Given the description of an element on the screen output the (x, y) to click on. 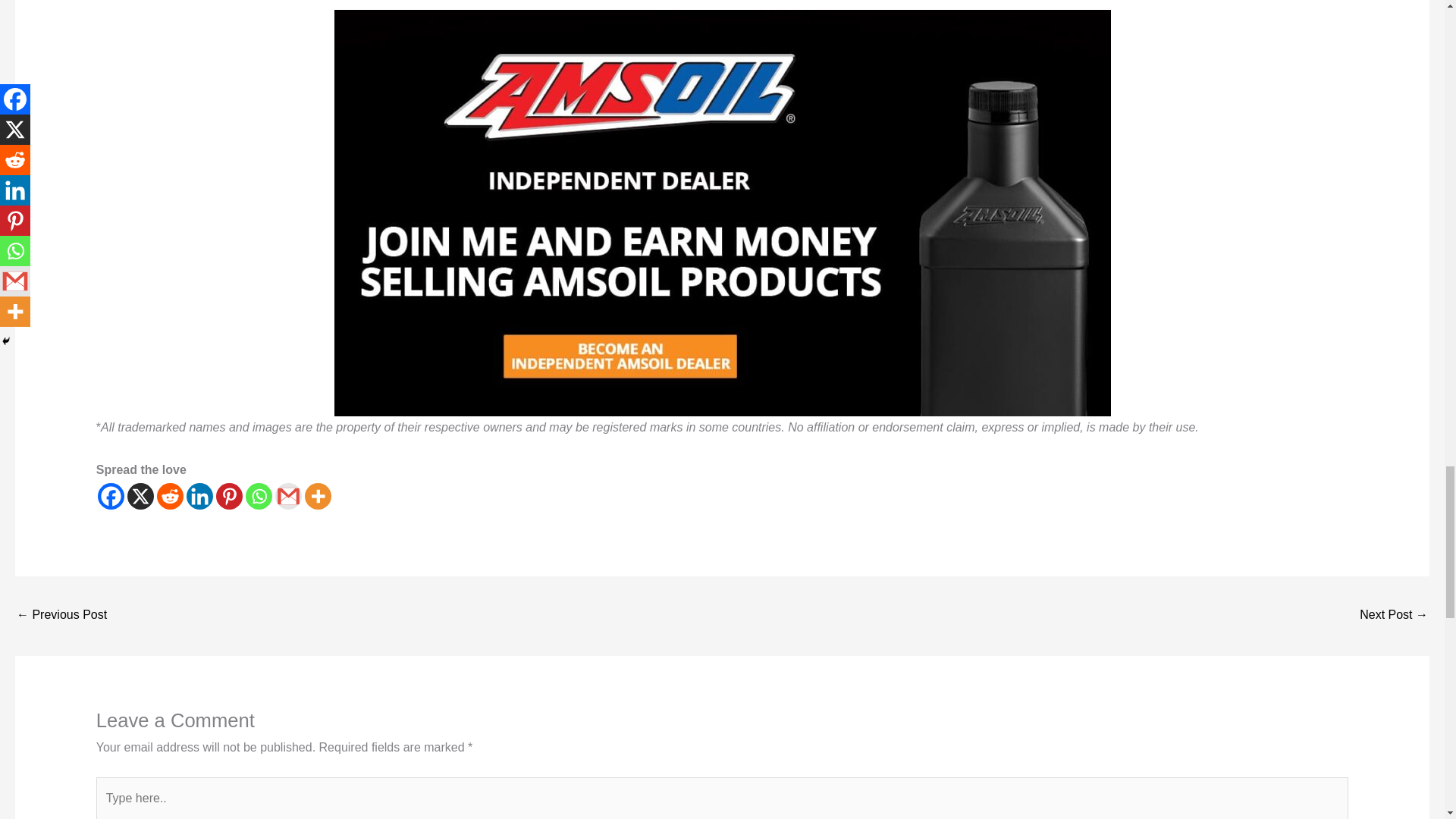
Reddit (170, 496)
Whatsapp (259, 496)
Facebook (110, 496)
Pinterest (229, 496)
More (317, 496)
X (141, 496)
Linkedin (199, 496)
Google Gmail (288, 496)
